Given the description of an element on the screen output the (x, y) to click on. 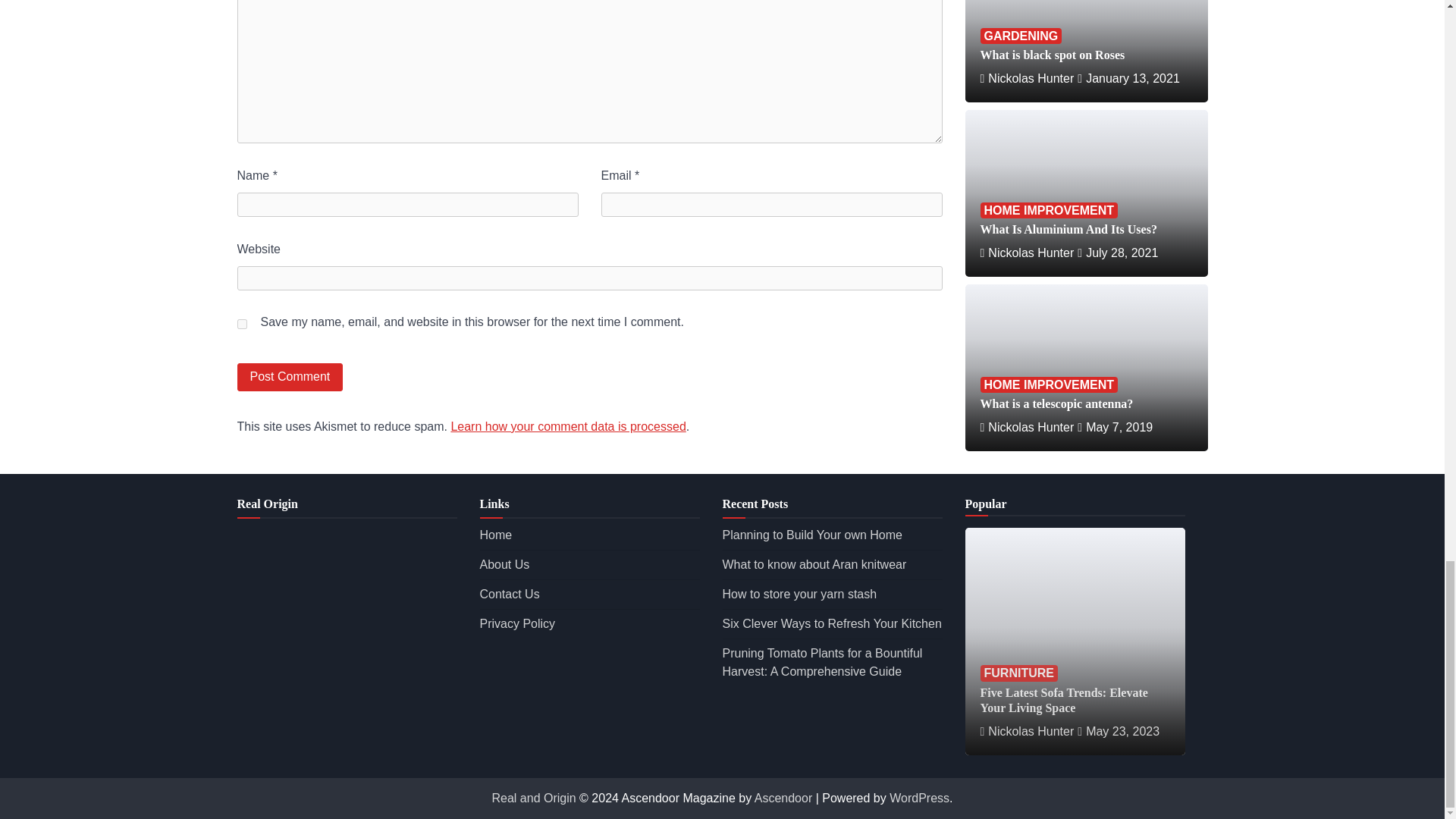
Learn how your comment data is processed (567, 426)
yes (240, 324)
Post Comment (288, 377)
Post Comment (288, 377)
